Given the description of an element on the screen output the (x, y) to click on. 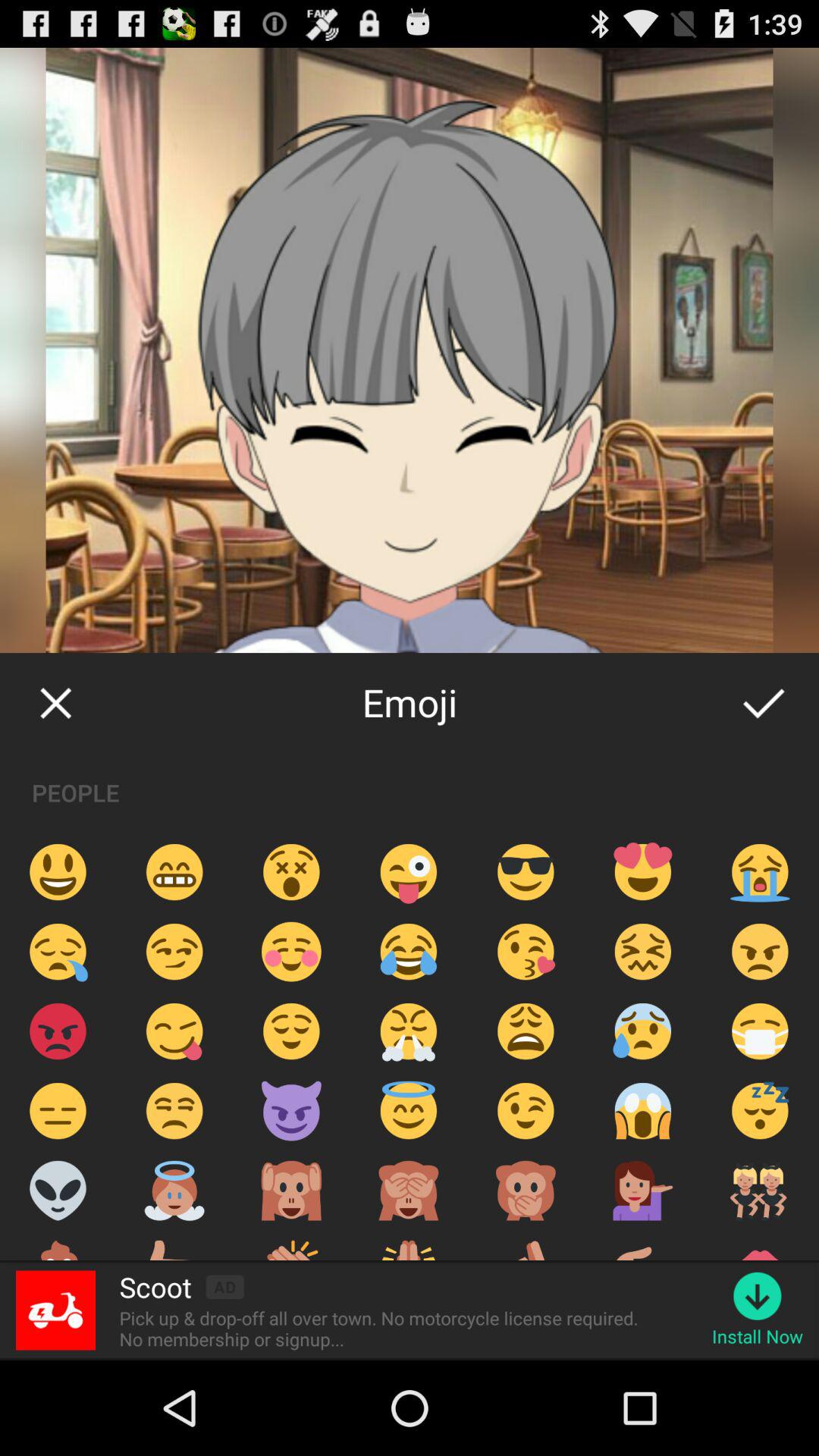
press the install now icon (757, 1336)
